Given the description of an element on the screen output the (x, y) to click on. 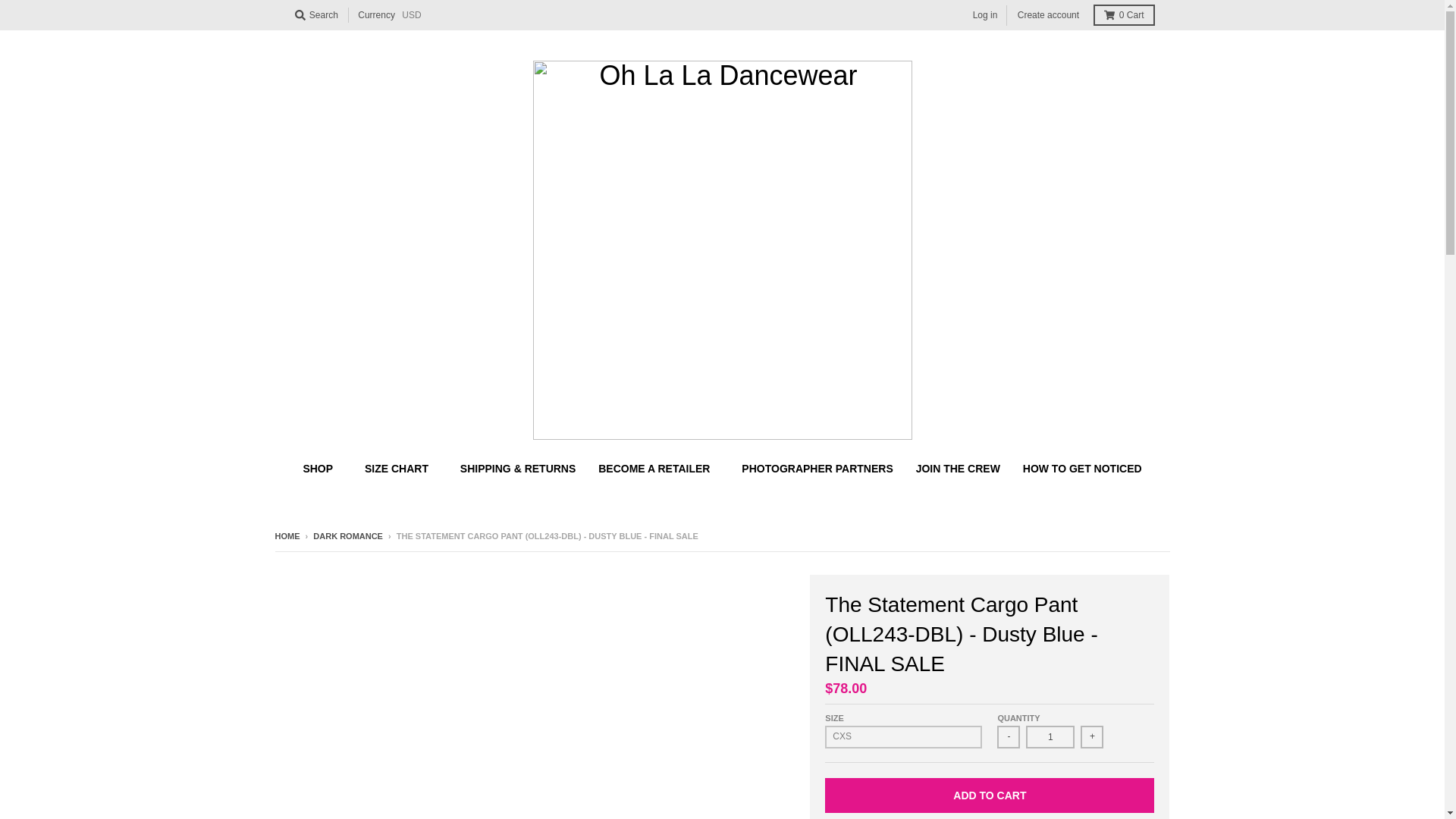
1 (1050, 736)
BECOME A RETAILER (658, 468)
0 Cart (1123, 14)
Log in (985, 14)
SHOP (322, 468)
SIZE CHART (400, 468)
Search (315, 14)
JOIN THE CREW (957, 468)
Back to the frontpage (287, 535)
HOW TO GET NOTICED (1082, 468)
